Given the description of an element on the screen output the (x, y) to click on. 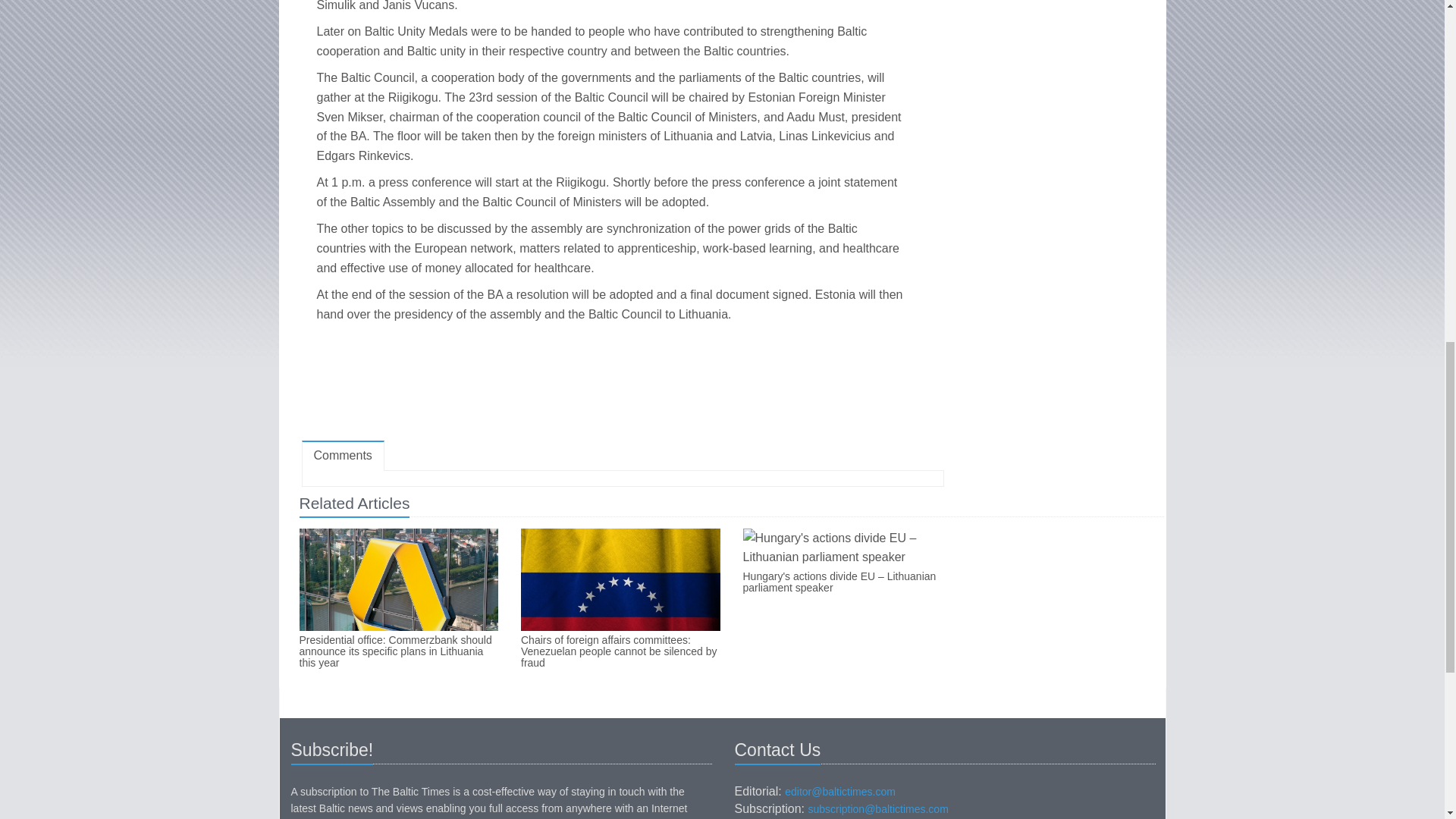
Advertisement (622, 385)
Comments (342, 455)
